Given the description of an element on the screen output the (x, y) to click on. 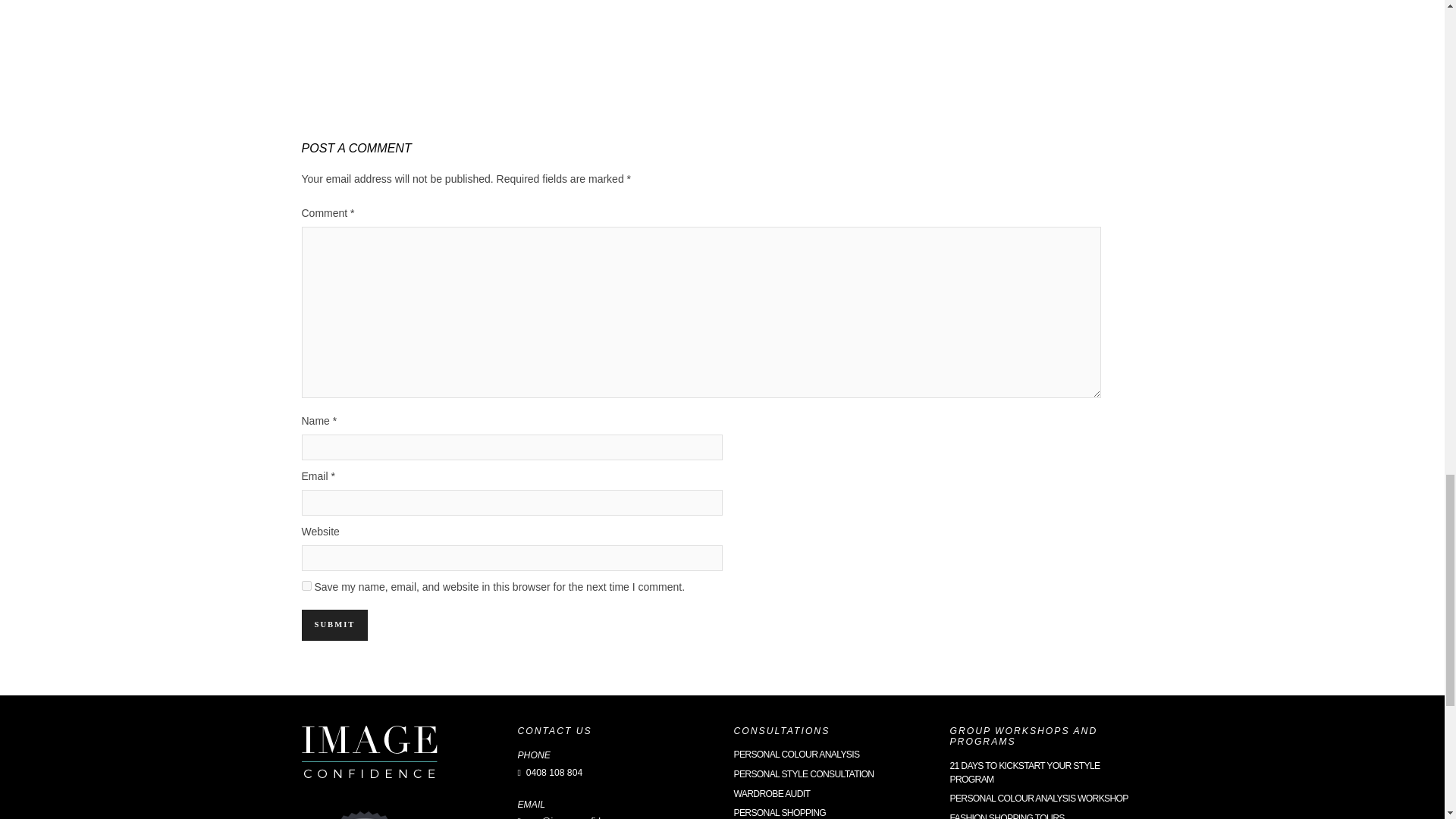
AICI Image Consultant CIC Member (363, 811)
yes (306, 585)
Submit (334, 624)
